Given the description of an element on the screen output the (x, y) to click on. 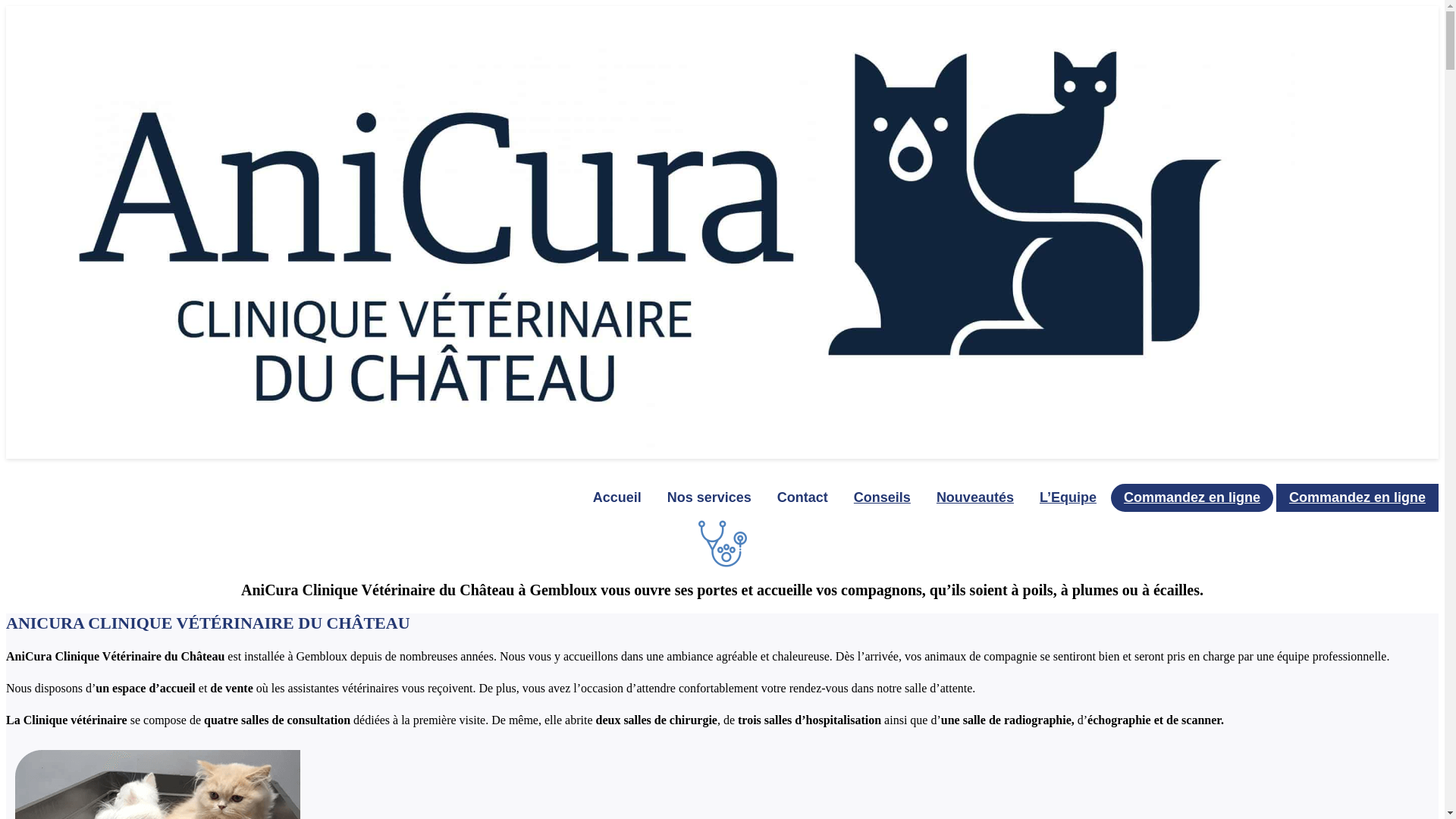
Conseils Element type: text (882, 497)
Accueil Element type: text (616, 497)
Nos services Element type: text (708, 497)
Commandez en ligne Element type: text (1357, 497)
Commandez en ligne Element type: text (1191, 497)
Contact Element type: text (802, 497)
